Given the description of an element on the screen output the (x, y) to click on. 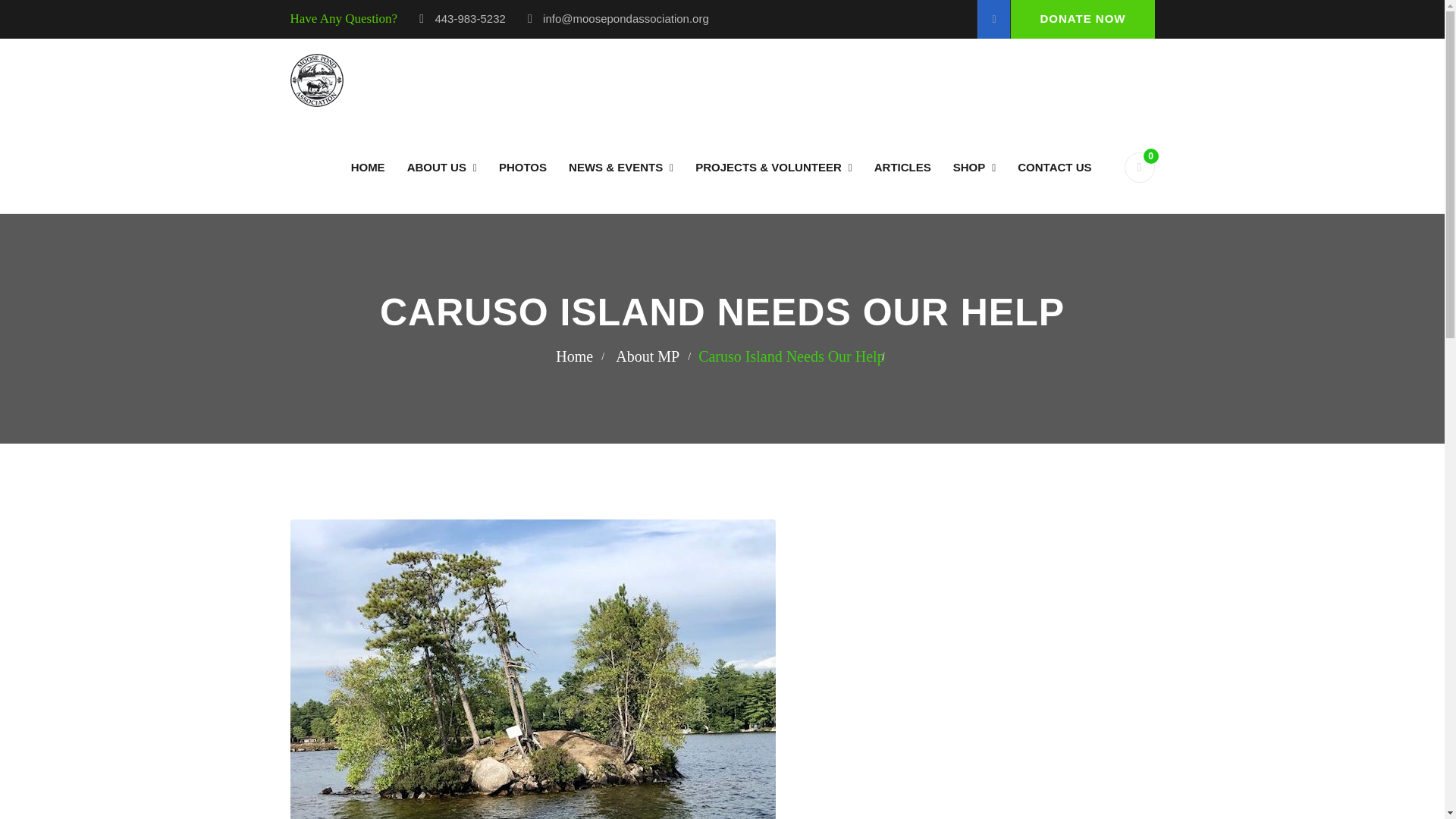
ARTICLES (902, 167)
About Us (441, 167)
PHOTOS (522, 167)
CONTACT US (1053, 167)
DONATE NOW (1082, 19)
443-983-5232 (469, 18)
HOME (367, 167)
ABOUT US (441, 167)
Photos (522, 167)
0 (1139, 167)
Arctica (315, 80)
Home (367, 167)
SHOP (974, 167)
